Given the description of an element on the screen output the (x, y) to click on. 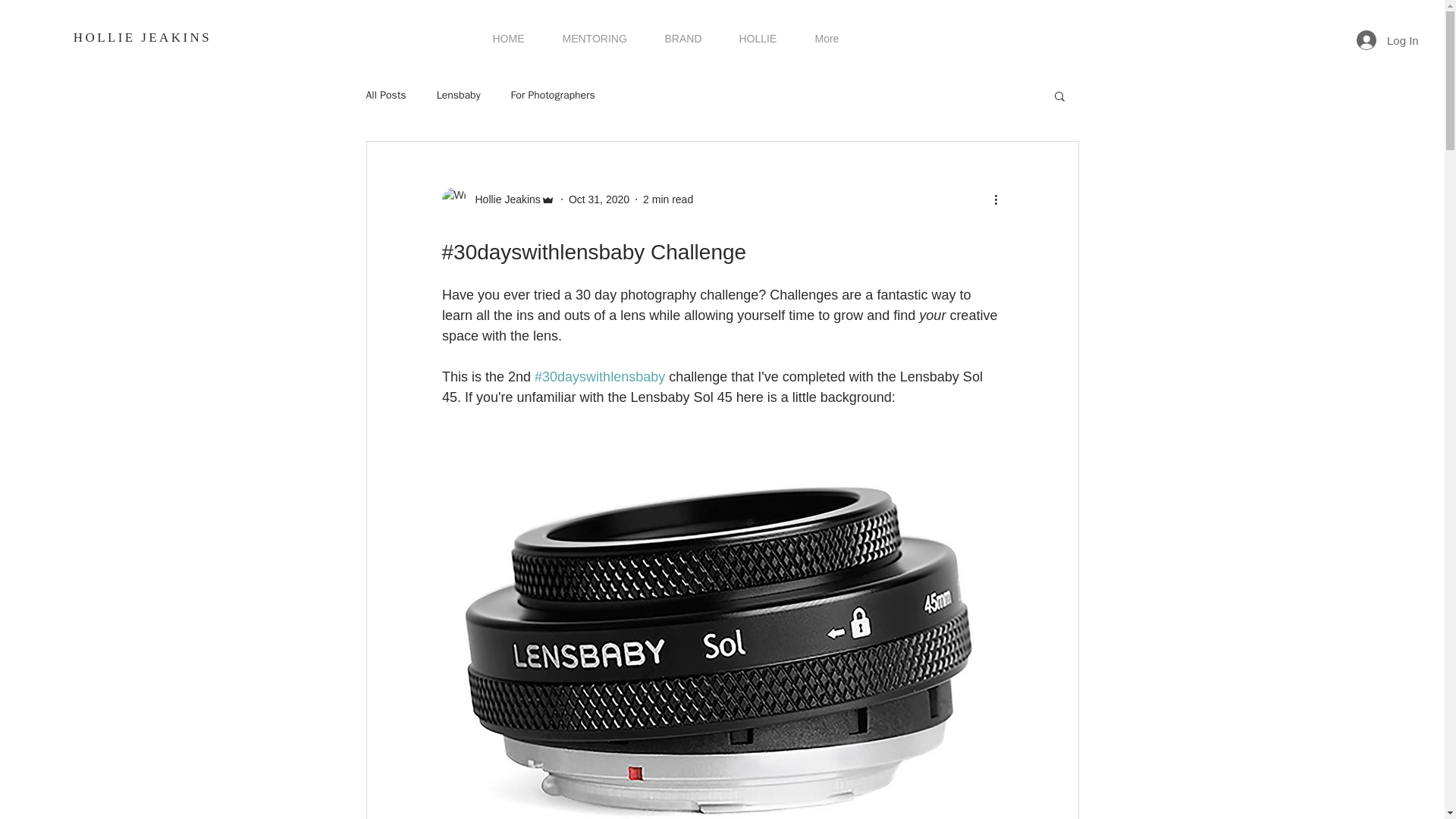
2 min read (668, 198)
Hollie Jeakins (502, 198)
Oct 31, 2020 (598, 198)
Hollie Jeakins (497, 199)
HOLLIE JEAKINS (142, 37)
For Photographers (553, 95)
HOME (508, 38)
HOLLIE (758, 38)
Log In (1379, 39)
MENTORING (594, 38)
